Given the description of an element on the screen output the (x, y) to click on. 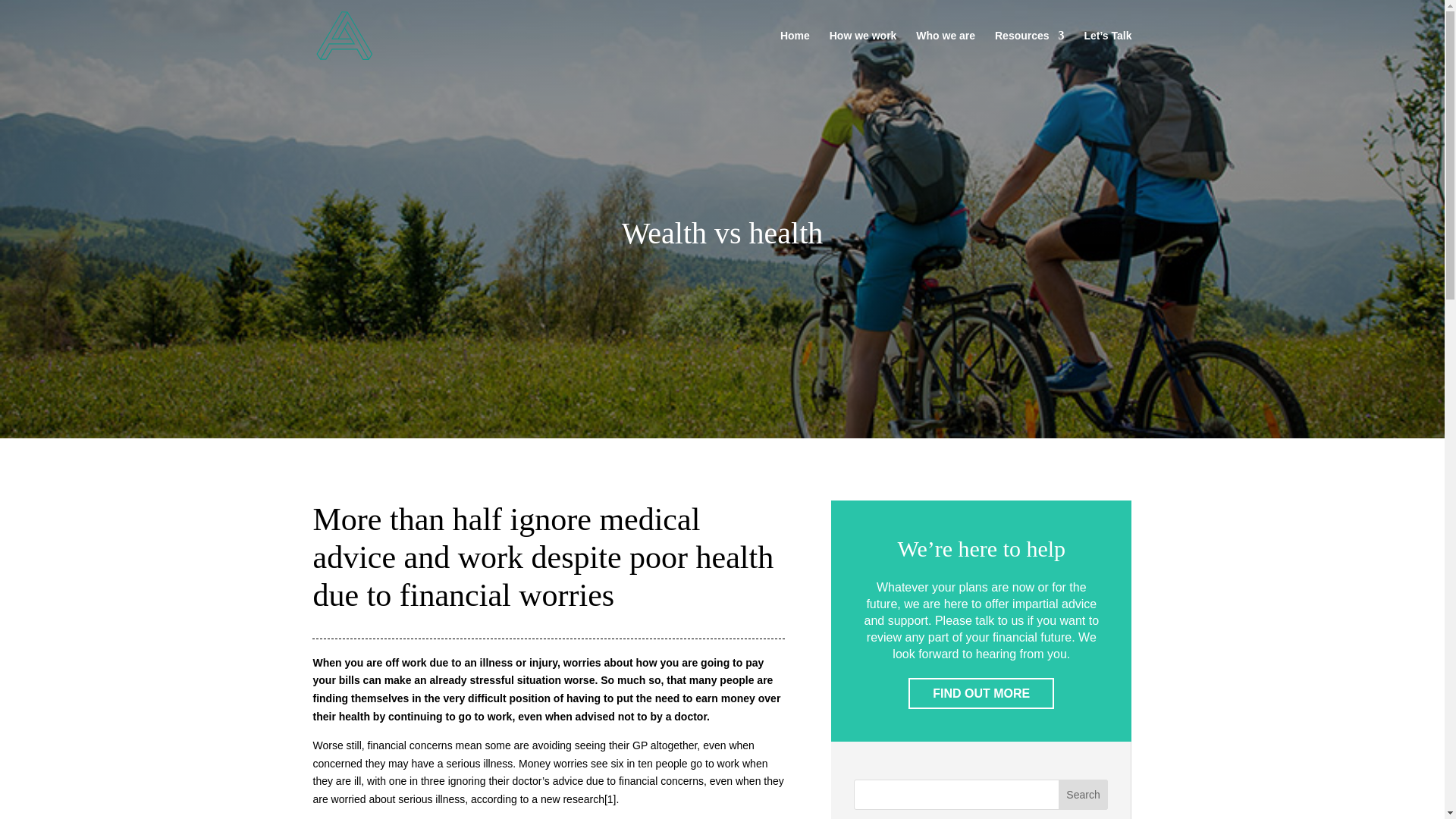
FIND OUT MORE (981, 693)
Who we are (945, 50)
Search (1083, 794)
Resources (1029, 50)
Home (794, 50)
How we work (862, 50)
Search (1083, 794)
